Given the description of an element on the screen output the (x, y) to click on. 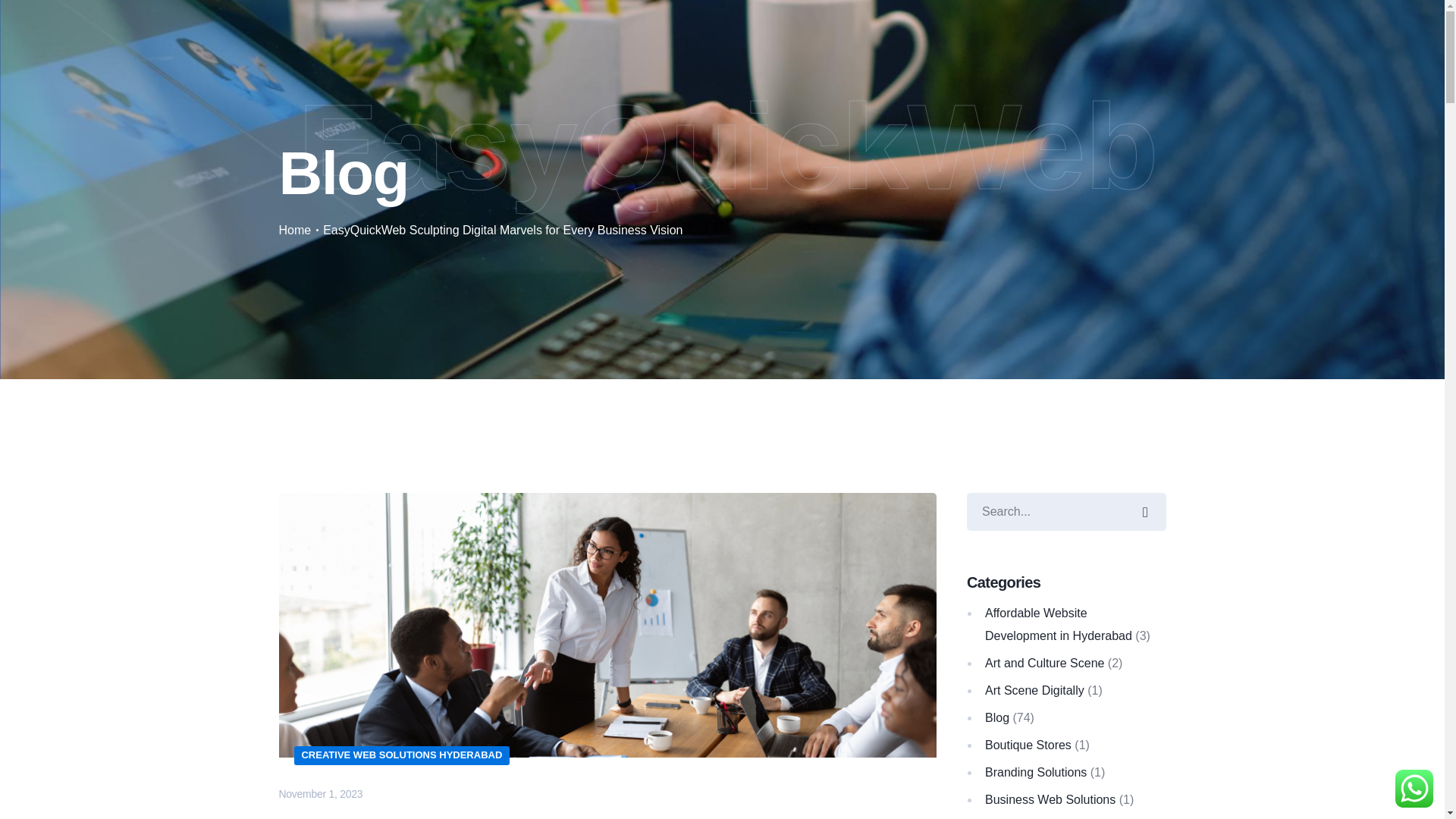
November 1, 2023 (320, 793)
Search (1066, 511)
CREATIVE WEB SOLUTIONS HYDERABAD (402, 755)
Home (295, 229)
